Given the description of an element on the screen output the (x, y) to click on. 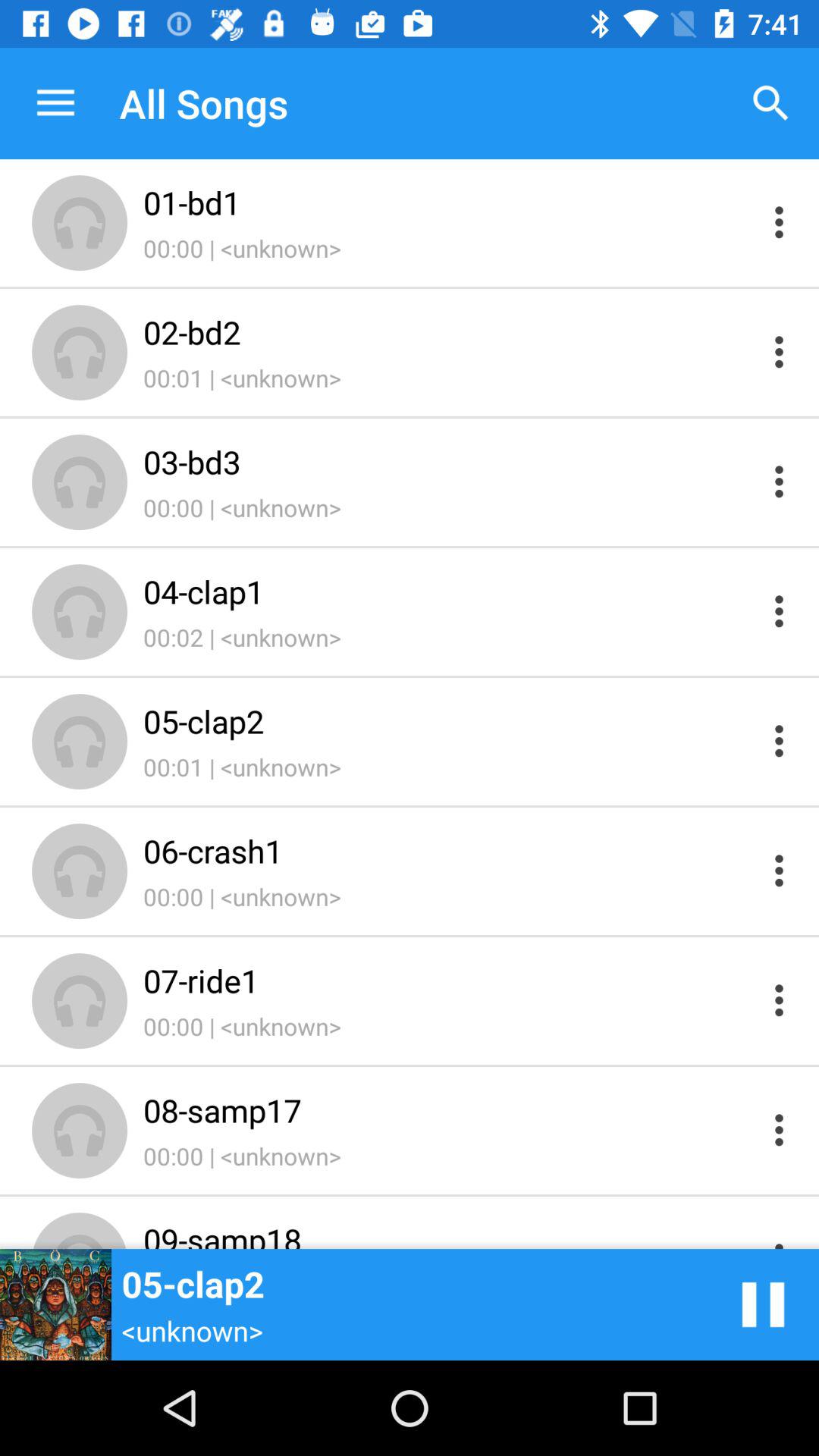
click 09-samp18 icon (449, 1233)
